Given the description of an element on the screen output the (x, y) to click on. 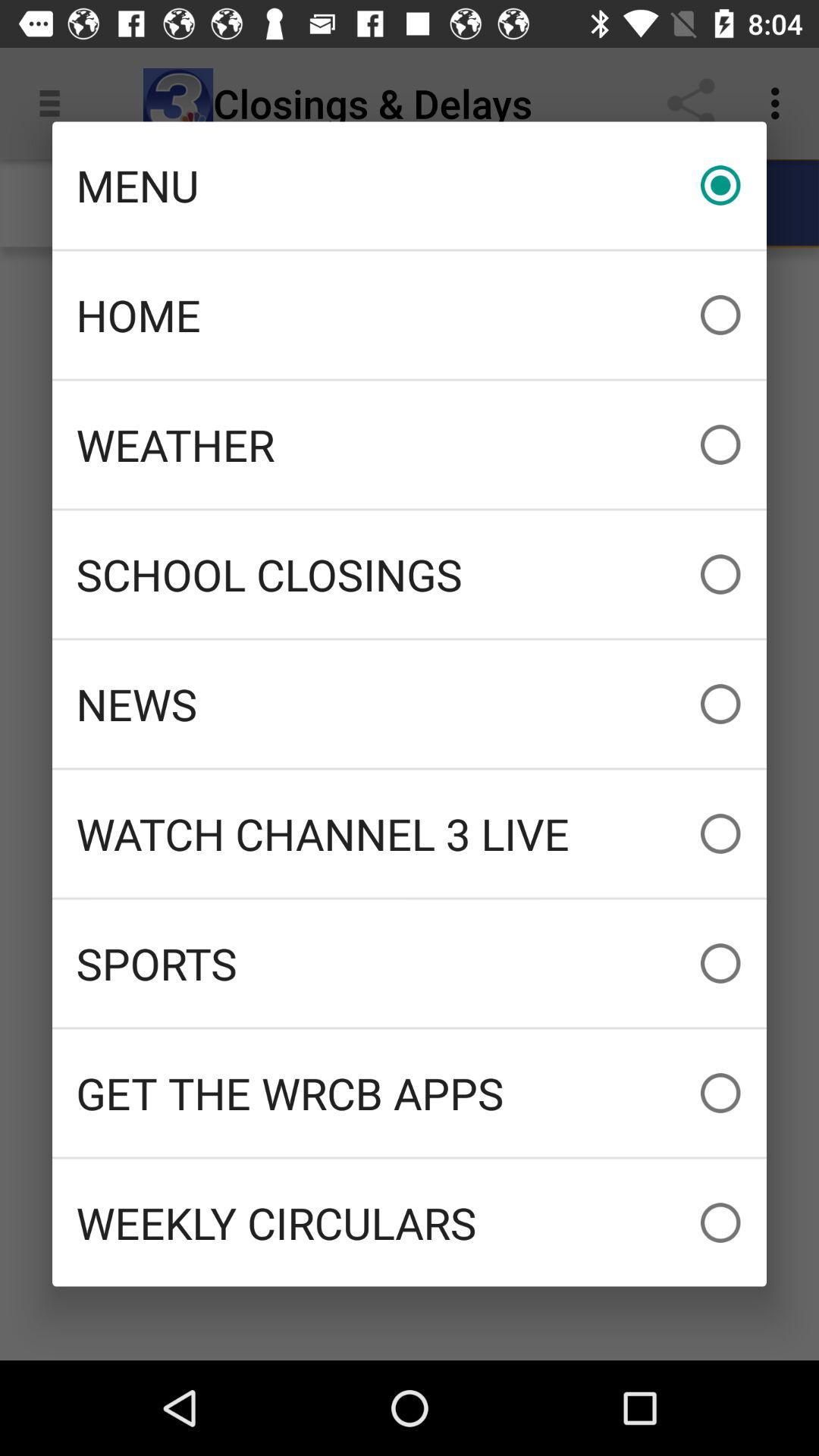
launch the news (409, 703)
